Given the description of an element on the screen output the (x, y) to click on. 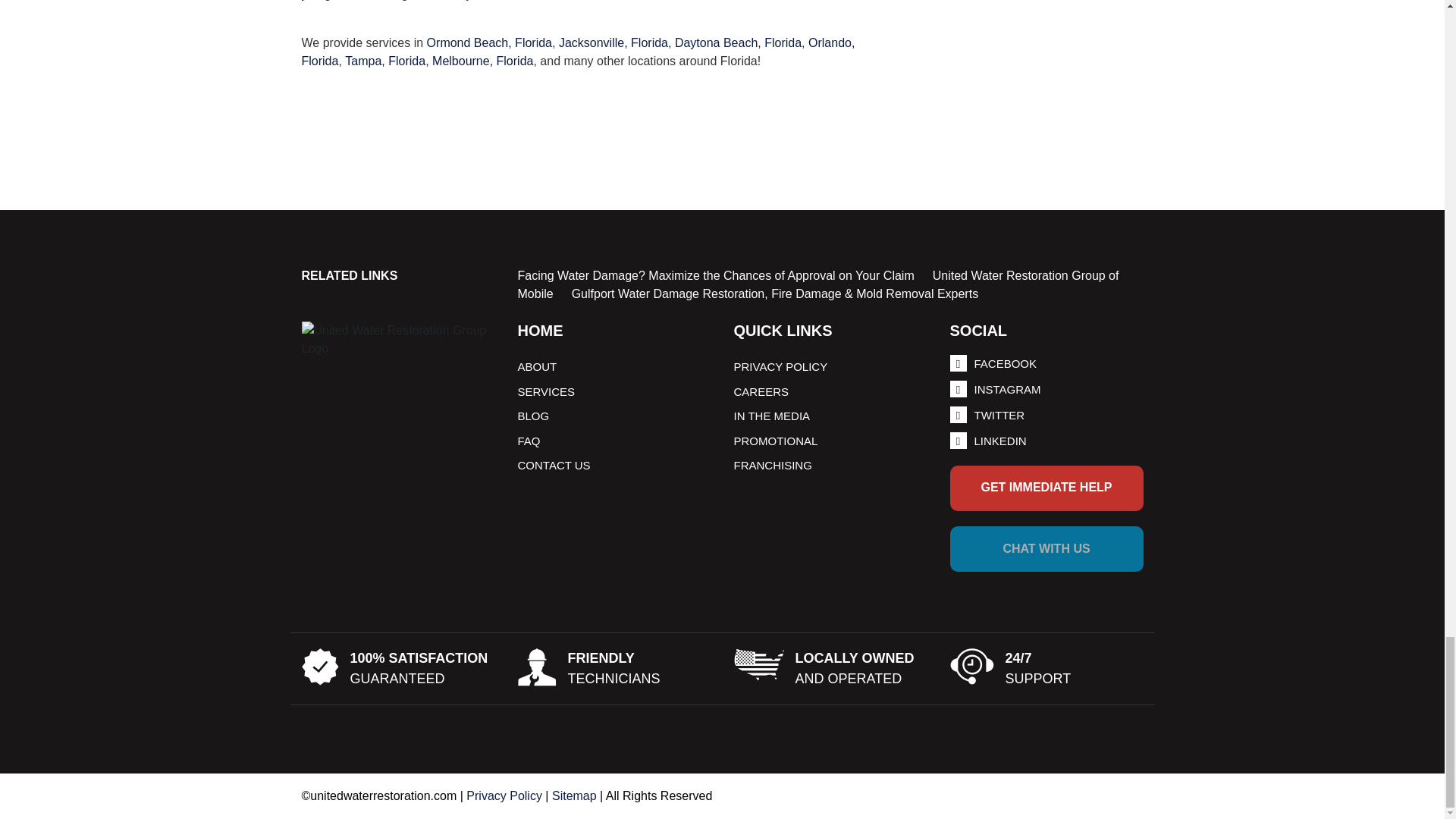
Ormond Beach, Florida (487, 42)
Orlando, Florida (578, 51)
Melbourne, Florida (481, 60)
Daytona Beach, Florida (736, 42)
United Water Restoration Group of Mobile (817, 284)
Jacksonville, Florida (611, 42)
Tampa, Florida (383, 60)
